Given the description of an element on the screen output the (x, y) to click on. 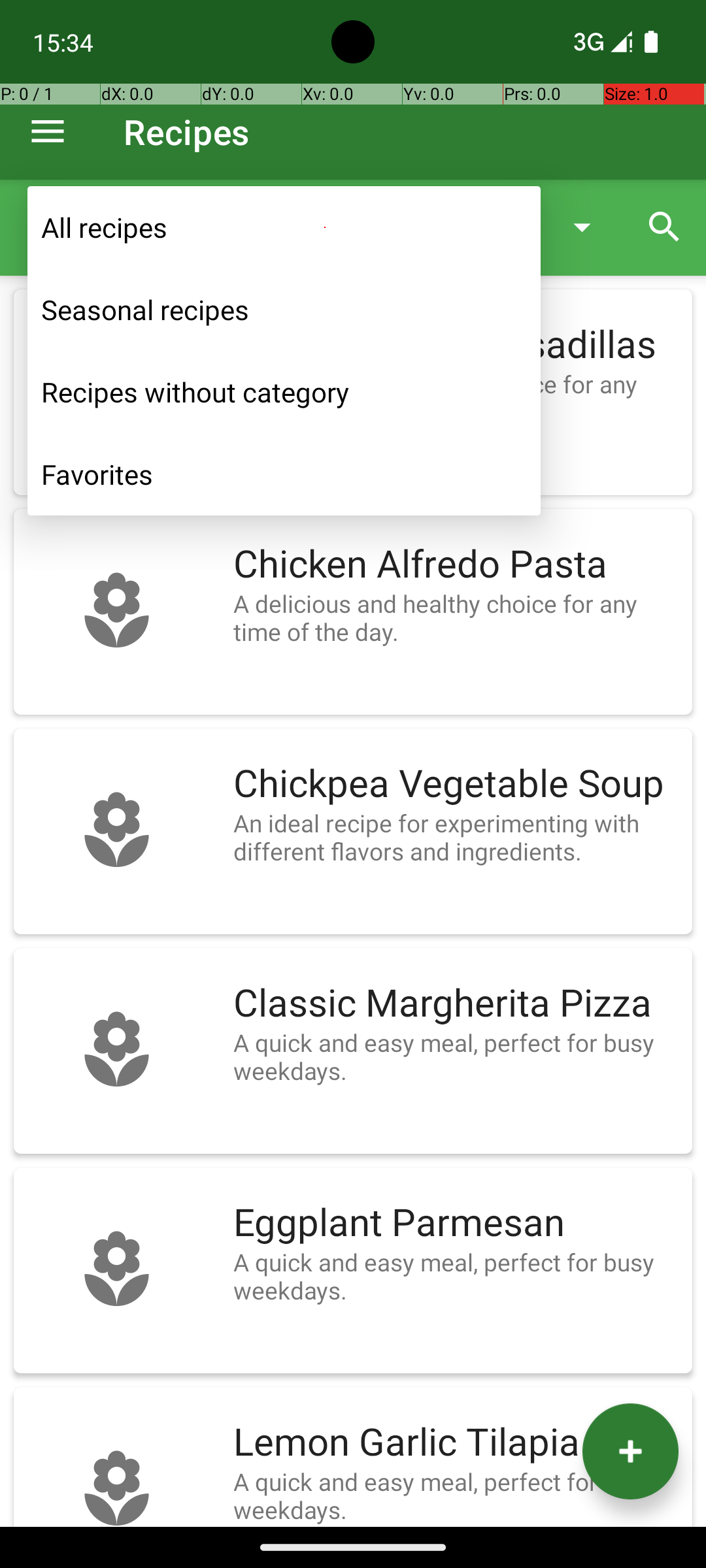
Seasonal recipes Element type: android.widget.CheckedTextView (283, 309)
Recipes without category Element type: android.widget.CheckedTextView (283, 391)
Favorites Element type: android.widget.CheckedTextView (283, 474)
